Given the description of an element on the screen output the (x, y) to click on. 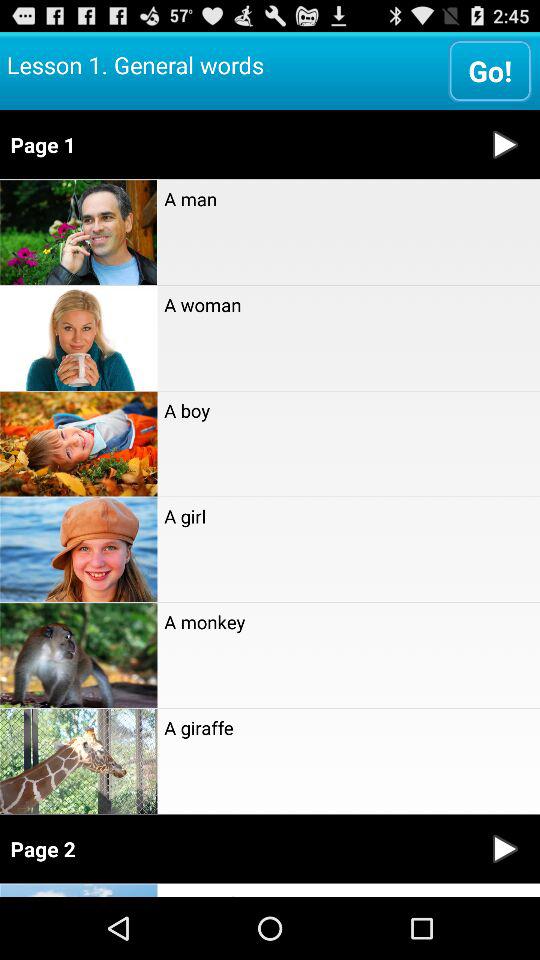
play (505, 848)
